Given the description of an element on the screen output the (x, y) to click on. 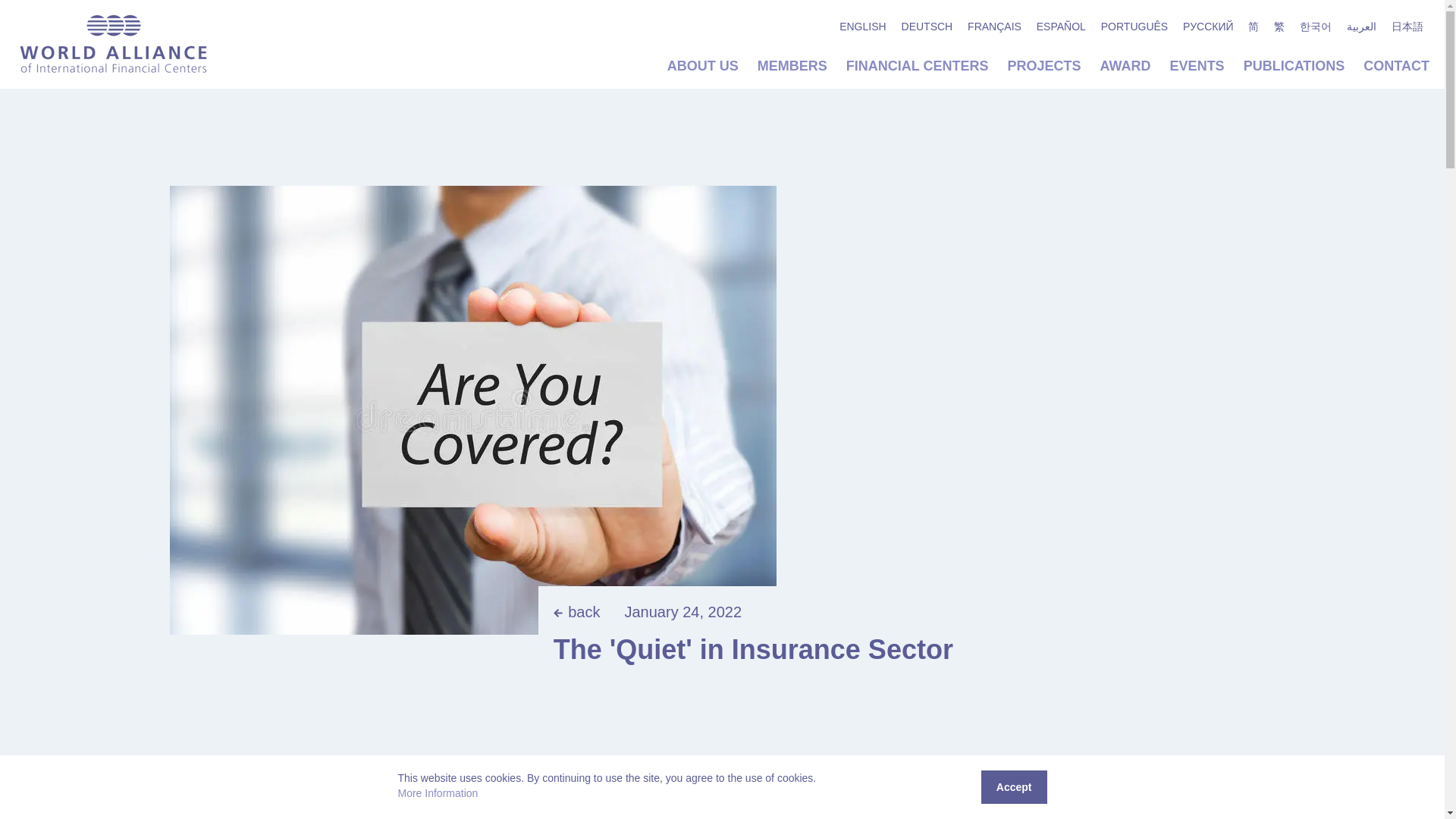
PUBLICATIONS (1294, 64)
MEMBERS (792, 64)
ABOUT US (702, 64)
back (576, 611)
More Information (437, 793)
EVENTS (1197, 64)
CONTACT (1395, 64)
DEUTSCH (927, 25)
AWARD (1125, 64)
FINANCIAL CENTERS (916, 64)
Accept (1013, 786)
PROJECTS (1044, 64)
ENGLISH (862, 25)
